Given the description of an element on the screen output the (x, y) to click on. 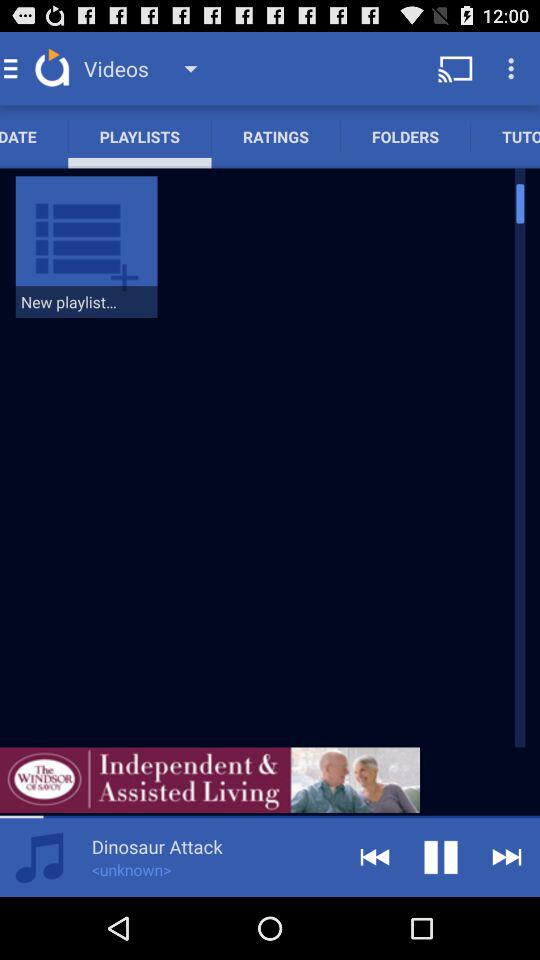
select the tab on right side of folders (505, 136)
select go back option on the bottom of the page (374, 856)
select the menu icon on the top right corner of the page (514, 68)
click on folders (405, 136)
go to dinosaur attack (157, 846)
click on the icon bottom right corner (506, 856)
